Given the description of an element on the screen output the (x, y) to click on. 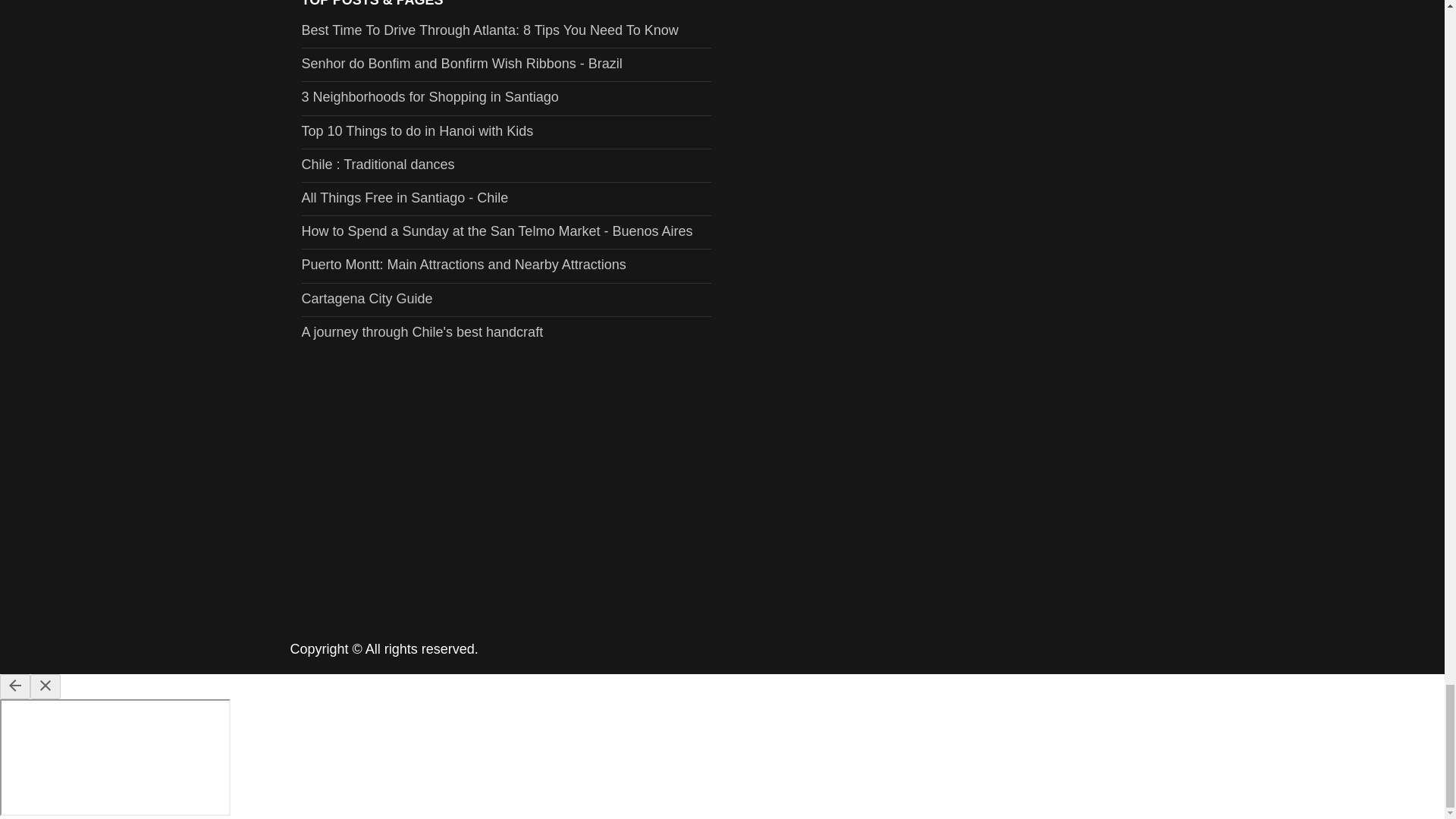
Puerto Montt: Main Attractions and Nearby Attractions (463, 264)
Cartagena City Guide (366, 298)
3 Neighborhoods for Shopping in Santiago (430, 96)
Senhor do Bonfim and Bonfirm Wish Ribbons - Brazil (462, 63)
A journey through Chile's best handcraft (422, 331)
How to Spend a Sunday at the San Telmo Market - Buenos Aires (497, 231)
Chile : Traditional dances (377, 164)
All Things Free in Santiago - Chile (404, 197)
Top 10 Things to do in Hanoi with Kids (417, 130)
Best Time To Drive Through Atlanta: 8 Tips You Need To Know (489, 29)
